Given the description of an element on the screen output the (x, y) to click on. 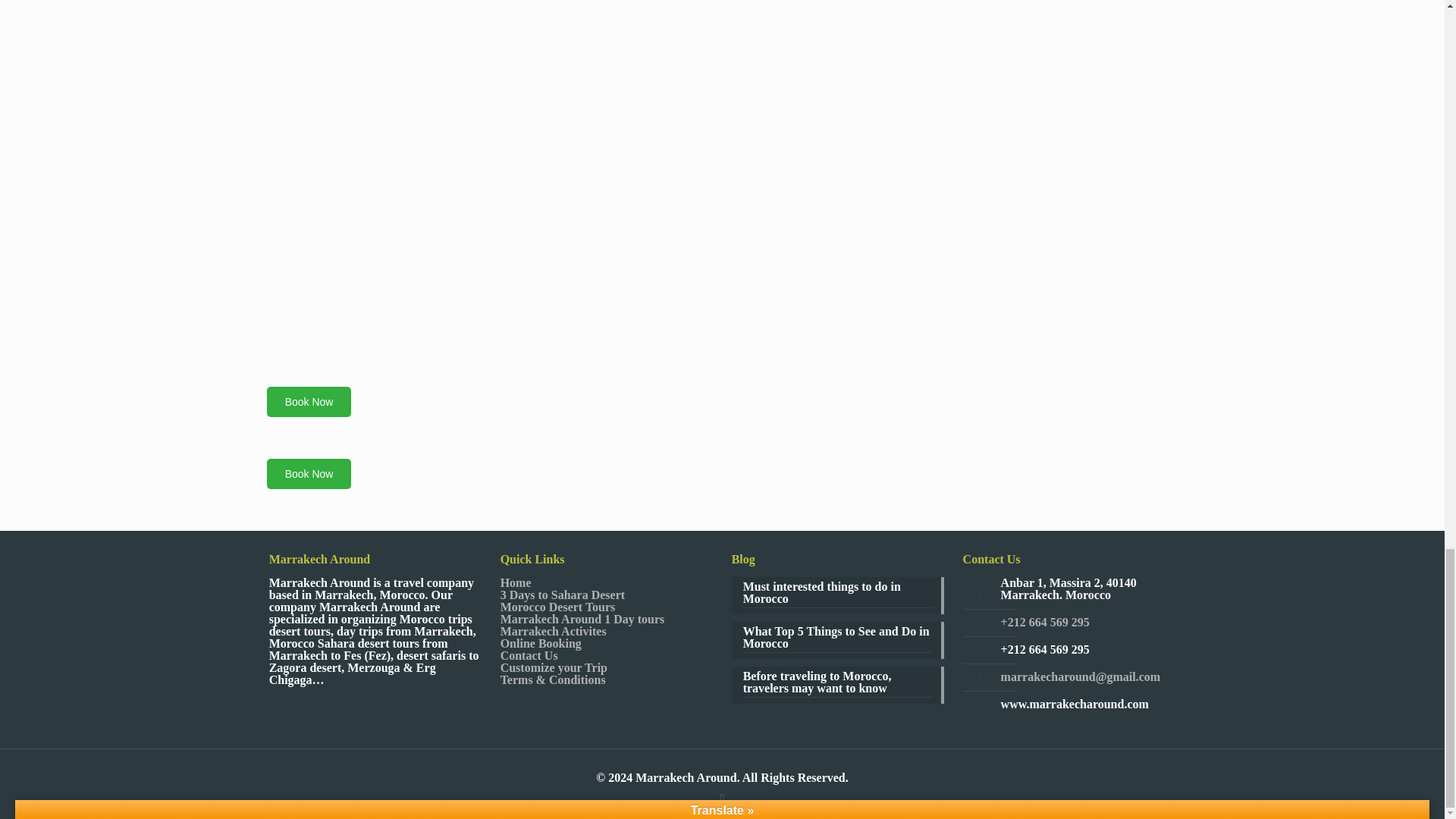
Instagram (722, 797)
